Given the description of an element on the screen output the (x, y) to click on. 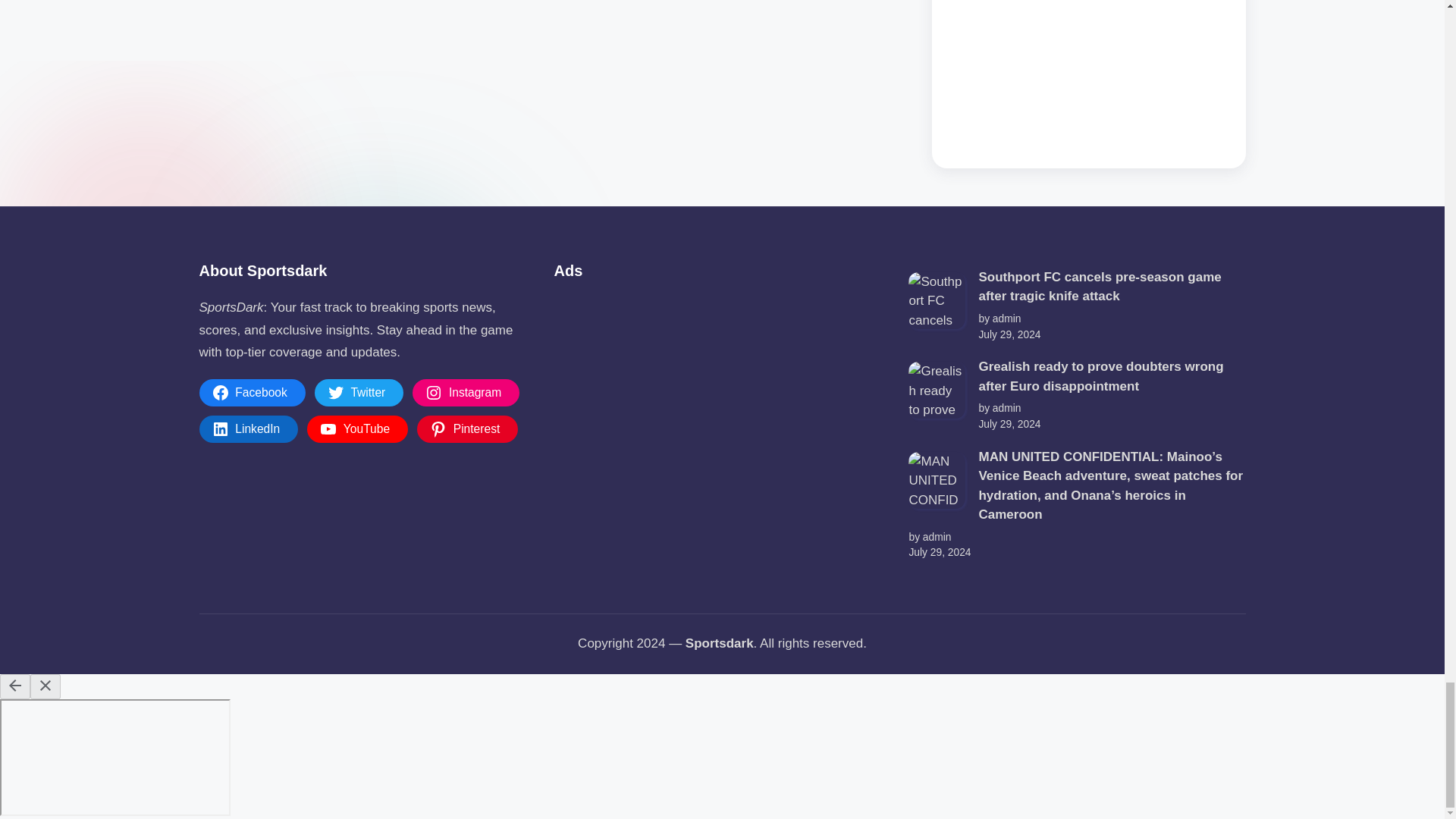
Twitter (359, 392)
Facebook (251, 392)
Instagram (465, 392)
